Given the description of an element on the screen output the (x, y) to click on. 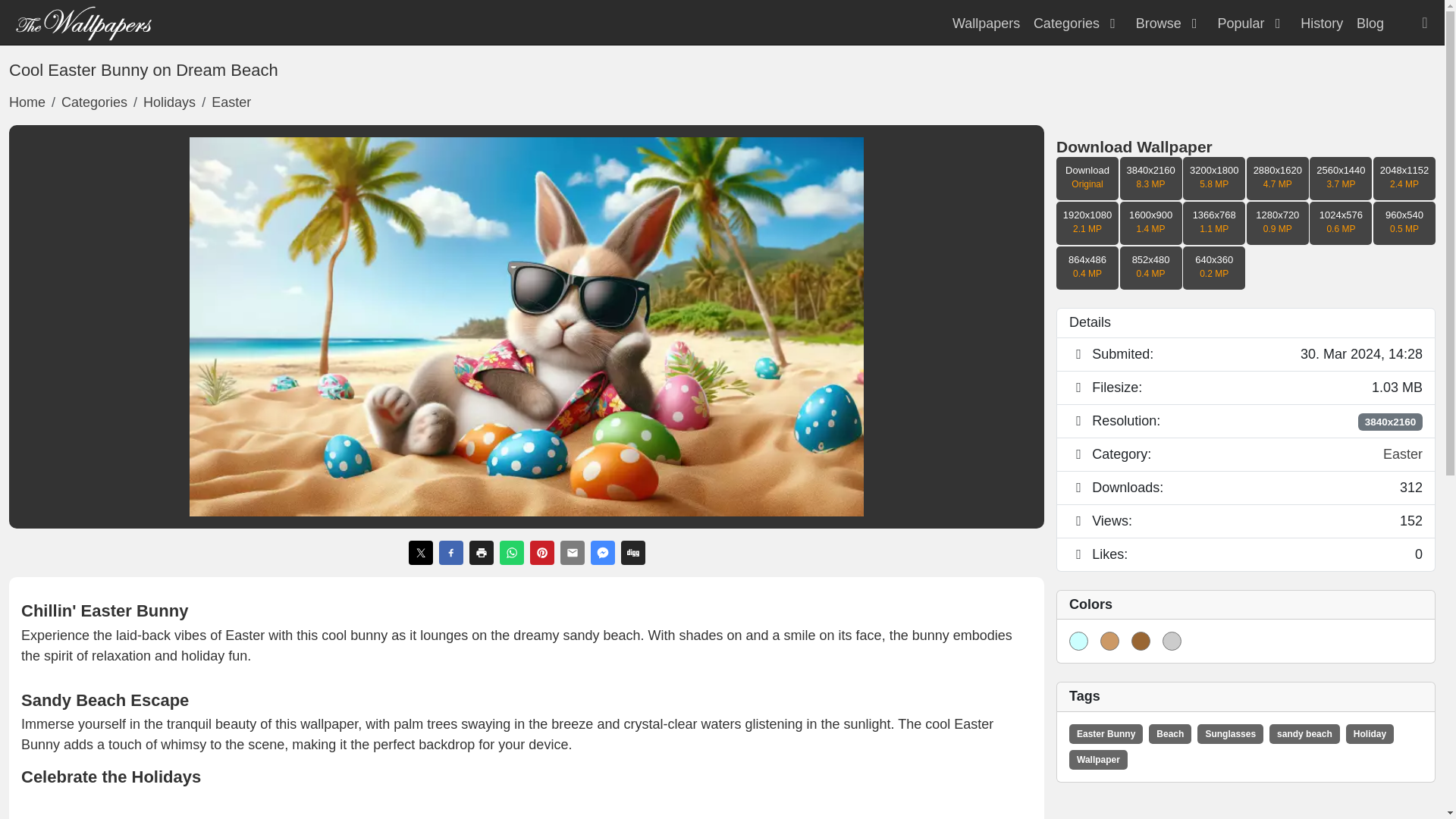
Wallpapers (986, 23)
Wallpapers (83, 21)
Wallpapers (986, 23)
